Given the description of an element on the screen output the (x, y) to click on. 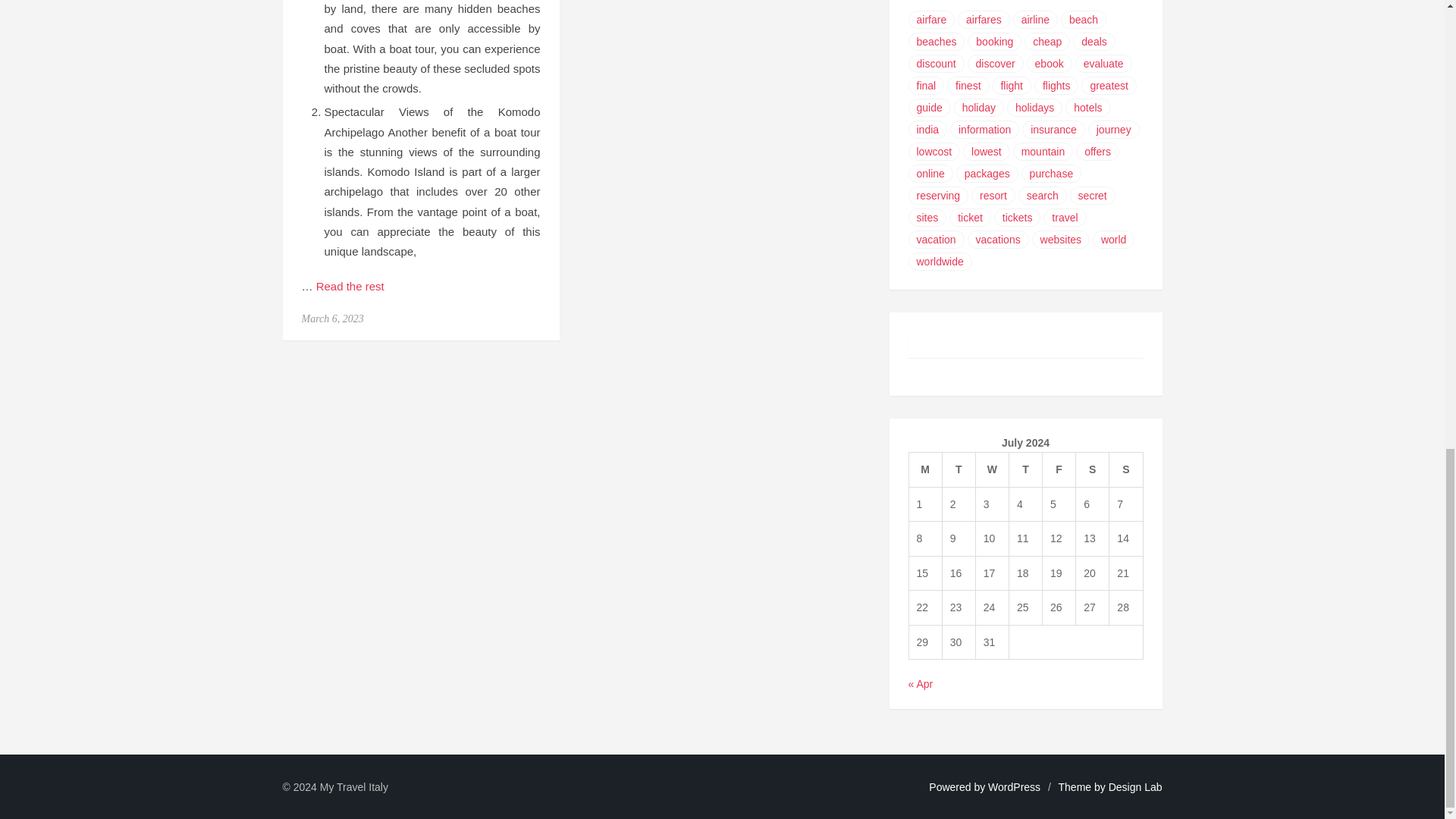
Wednesday (992, 469)
Friday (1058, 469)
Tuesday (958, 469)
Saturday (1092, 469)
Monday (925, 469)
Sunday (1125, 469)
Thursday (1025, 469)
